Given the description of an element on the screen output the (x, y) to click on. 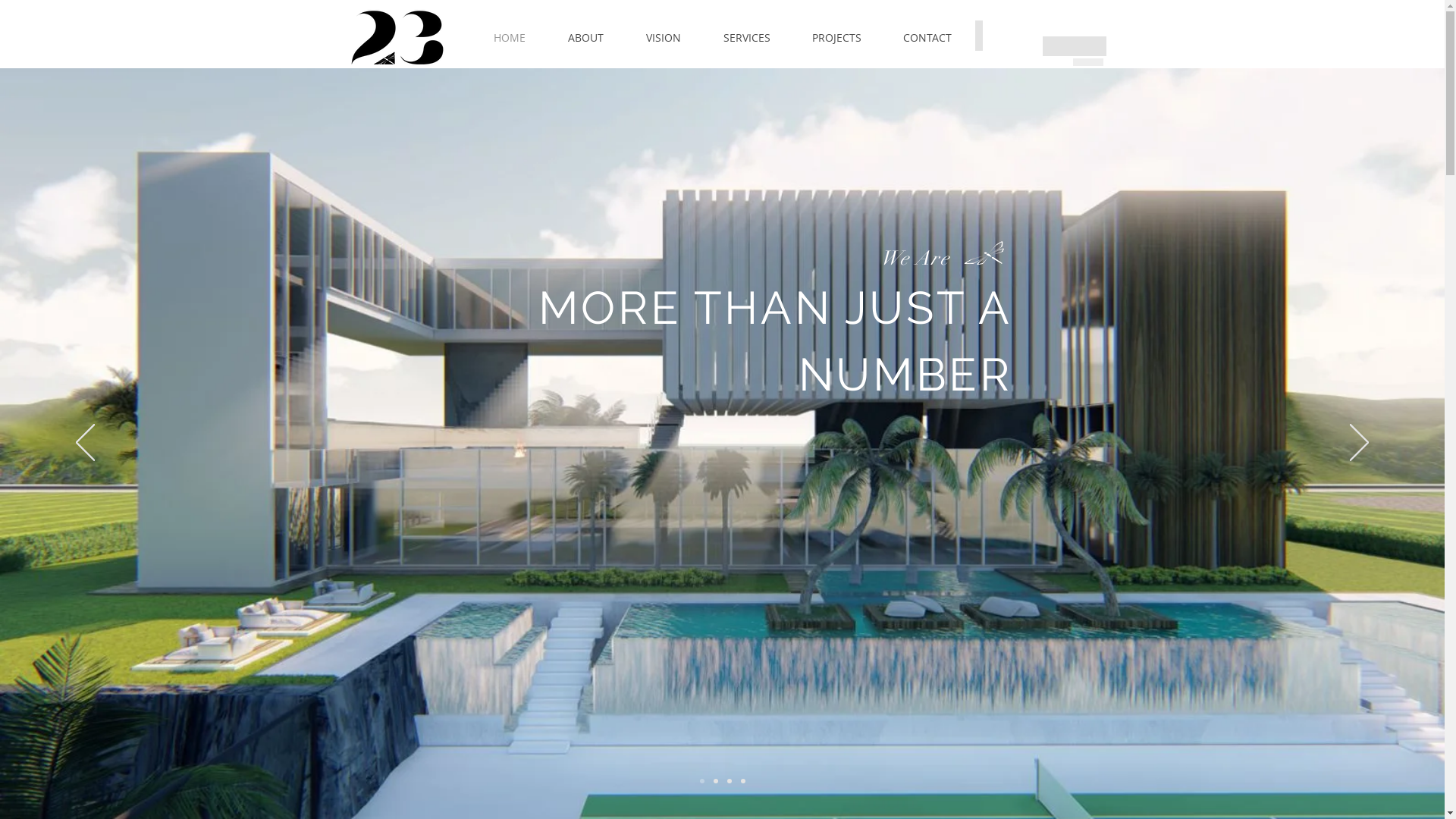
SERVICES Element type: text (746, 37)
CONTACT Element type: text (927, 37)
PROJECTS Element type: text (836, 37)
ABOUT Element type: text (585, 37)
HOME Element type: text (508, 37)
VISION Element type: text (663, 37)
